Given the description of an element on the screen output the (x, y) to click on. 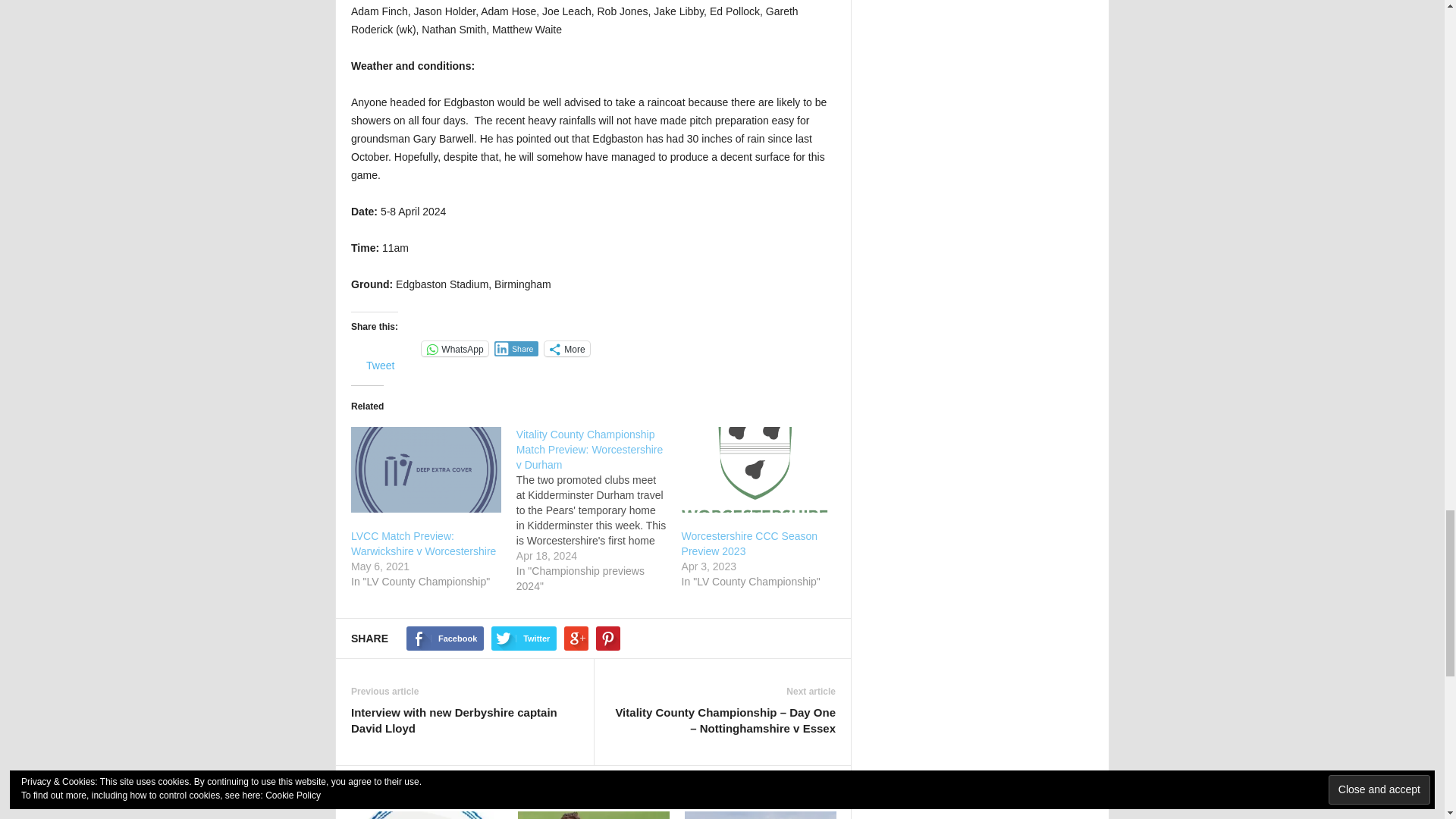
Share (516, 348)
Click to share on WhatsApp (454, 348)
More (566, 348)
WhatsApp (454, 348)
